Given the description of an element on the screen output the (x, y) to click on. 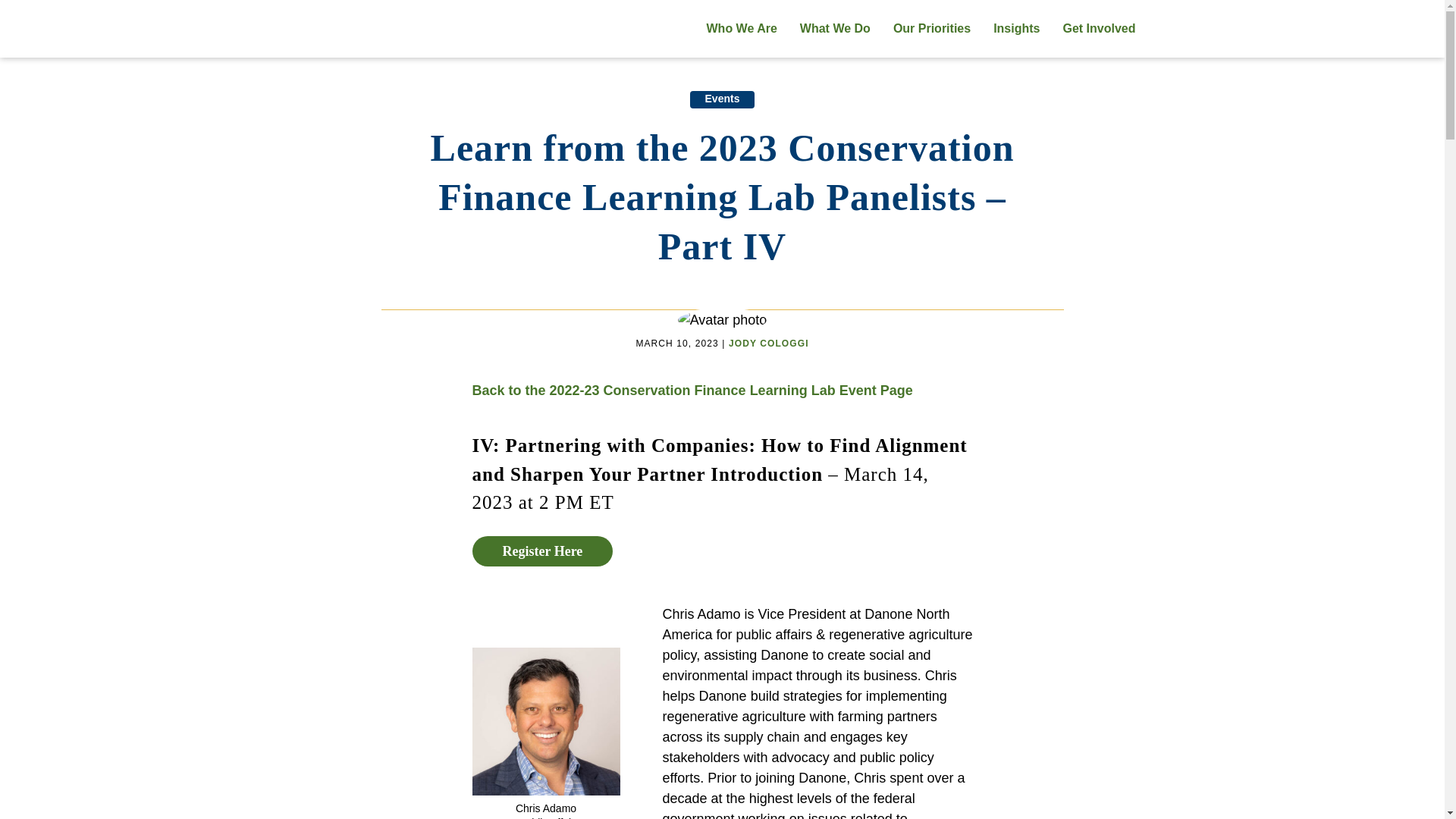
What We Do (835, 29)
Search (1167, 28)
Who We Are (740, 29)
Highstead (355, 28)
